Given the description of an element on the screen output the (x, y) to click on. 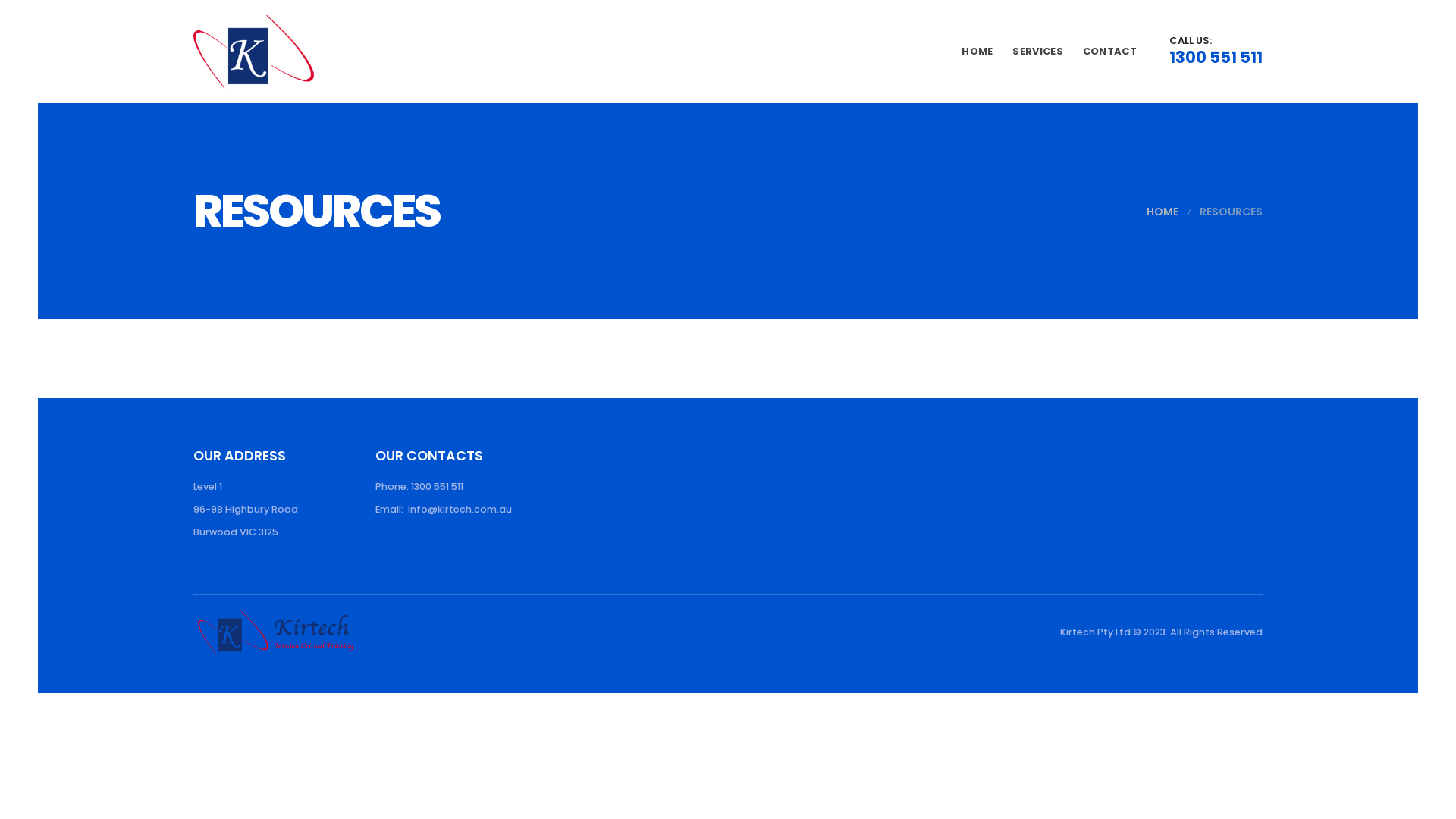
HOME Element type: text (977, 51)
Mission Critical Thermal Printing Solutions -  Element type: hover (253, 51)
CONTACT Element type: text (1109, 51)
SERVICES Element type: text (1037, 51)
HOME Element type: text (1162, 211)
Mission Critical Thermal Printing Solutions -  Element type: hover (275, 630)
1300 551 511 Element type: text (1215, 56)
